Given the description of an element on the screen output the (x, y) to click on. 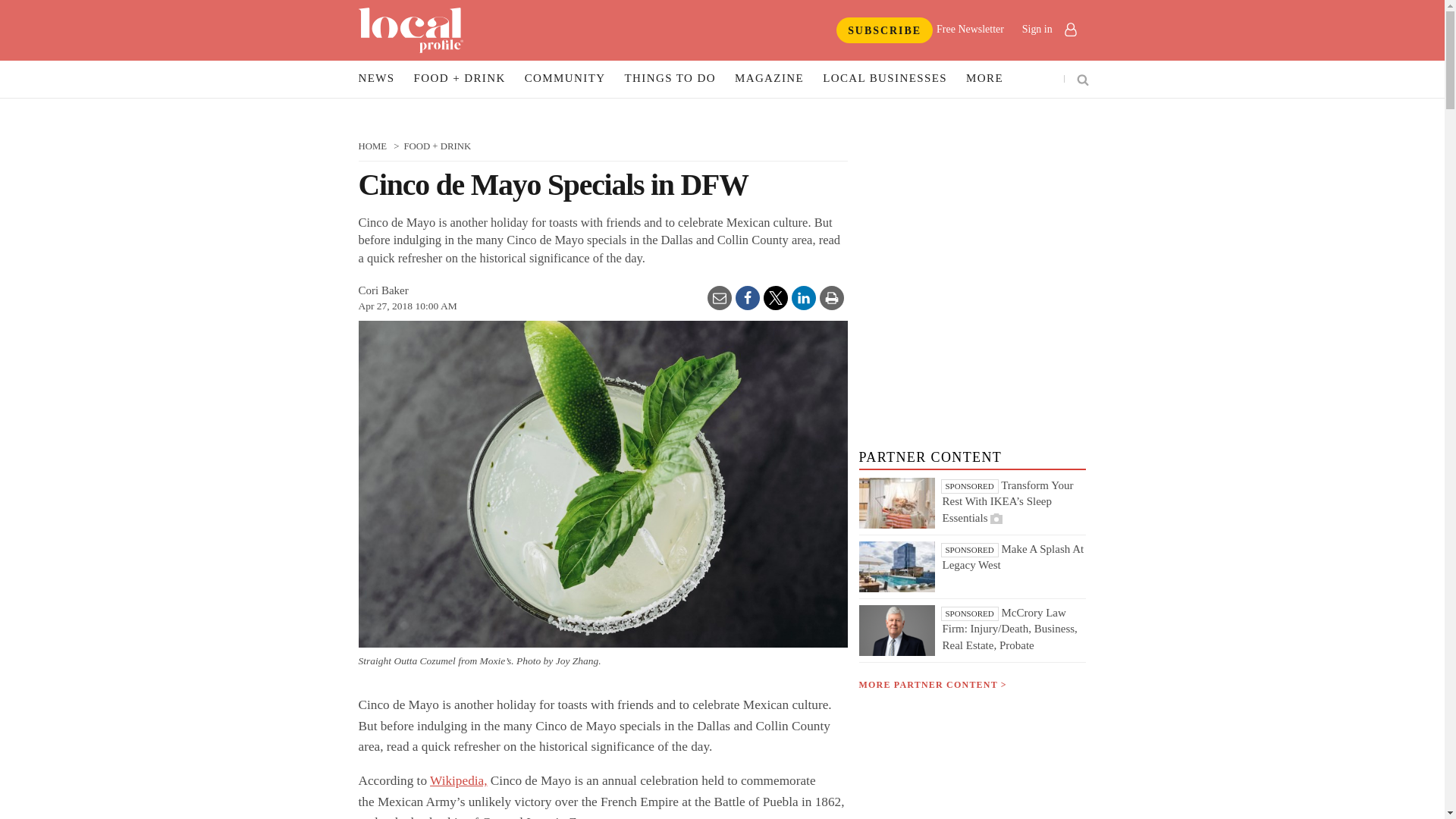
MAGAZINE (769, 79)
Free Newsletter (970, 29)
SUBSCRIBE (884, 30)
HOME (372, 145)
THINGS TO DO (669, 79)
LOCAL BUSINESSES (884, 79)
NEWS (376, 79)
Has a gallery (996, 518)
COMMUNITY (565, 79)
Sign in (1048, 28)
